Given the description of an element on the screen output the (x, y) to click on. 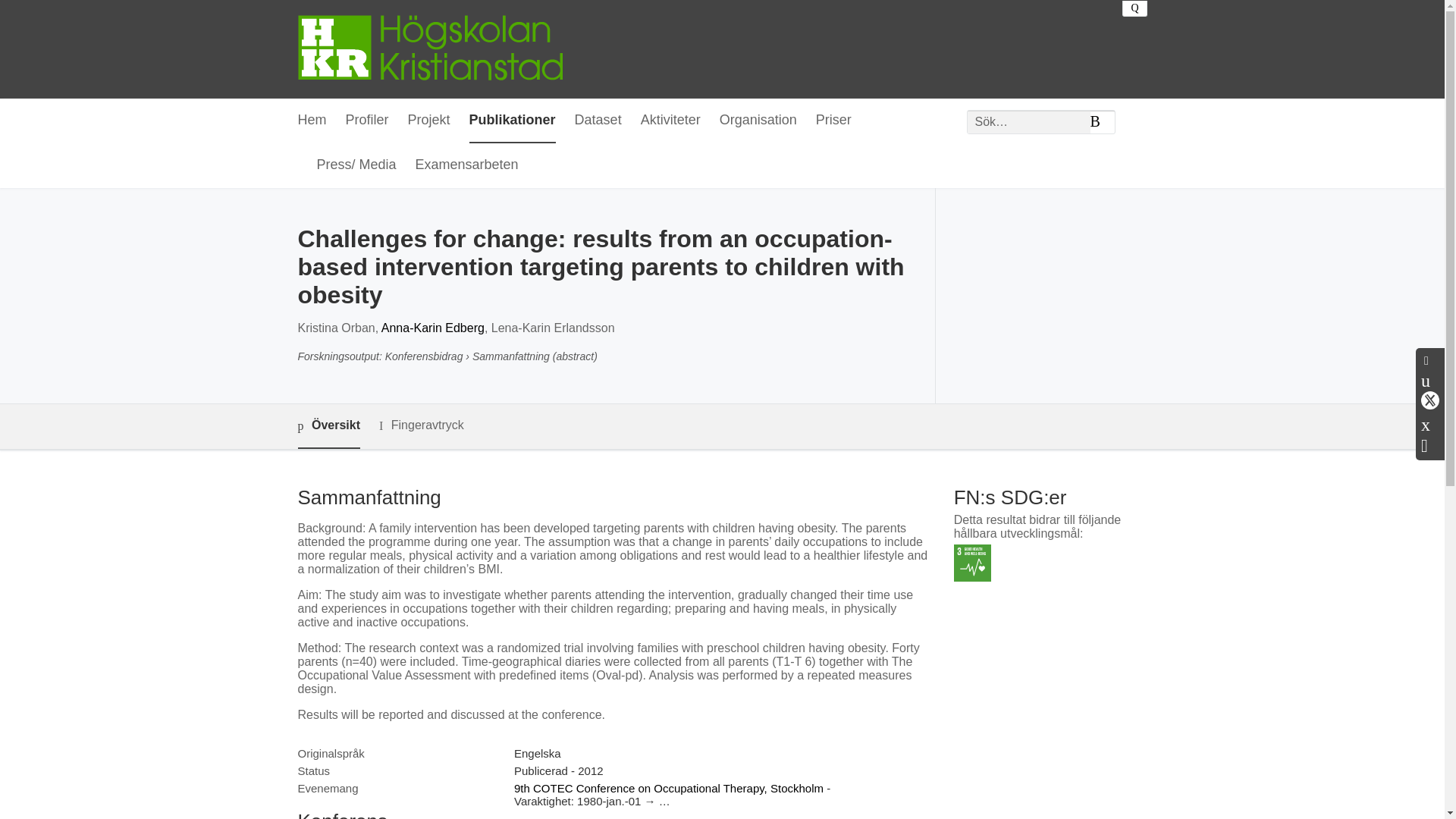
Dataset (598, 120)
Fingeravtryck (421, 425)
9th COTEC Conference on Occupational Therapy, Stockholm (668, 788)
Projekt (428, 120)
Profiler (367, 120)
Organisation (757, 120)
Aktiviteter (670, 120)
Publikationer (512, 120)
Anna-Karin Edberg (432, 327)
Examensarbeten (466, 165)
